Given the description of an element on the screen output the (x, y) to click on. 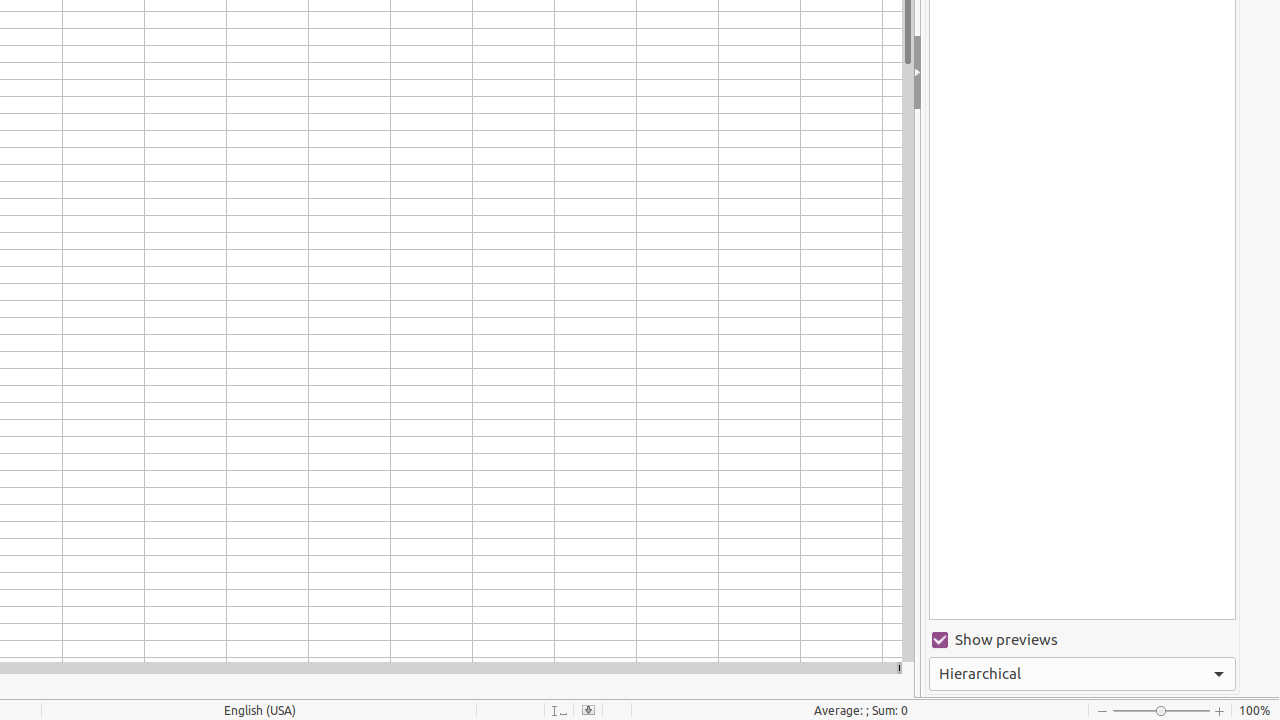
Show previews Element type: check-box (1082, 640)
